Given the description of an element on the screen output the (x, y) to click on. 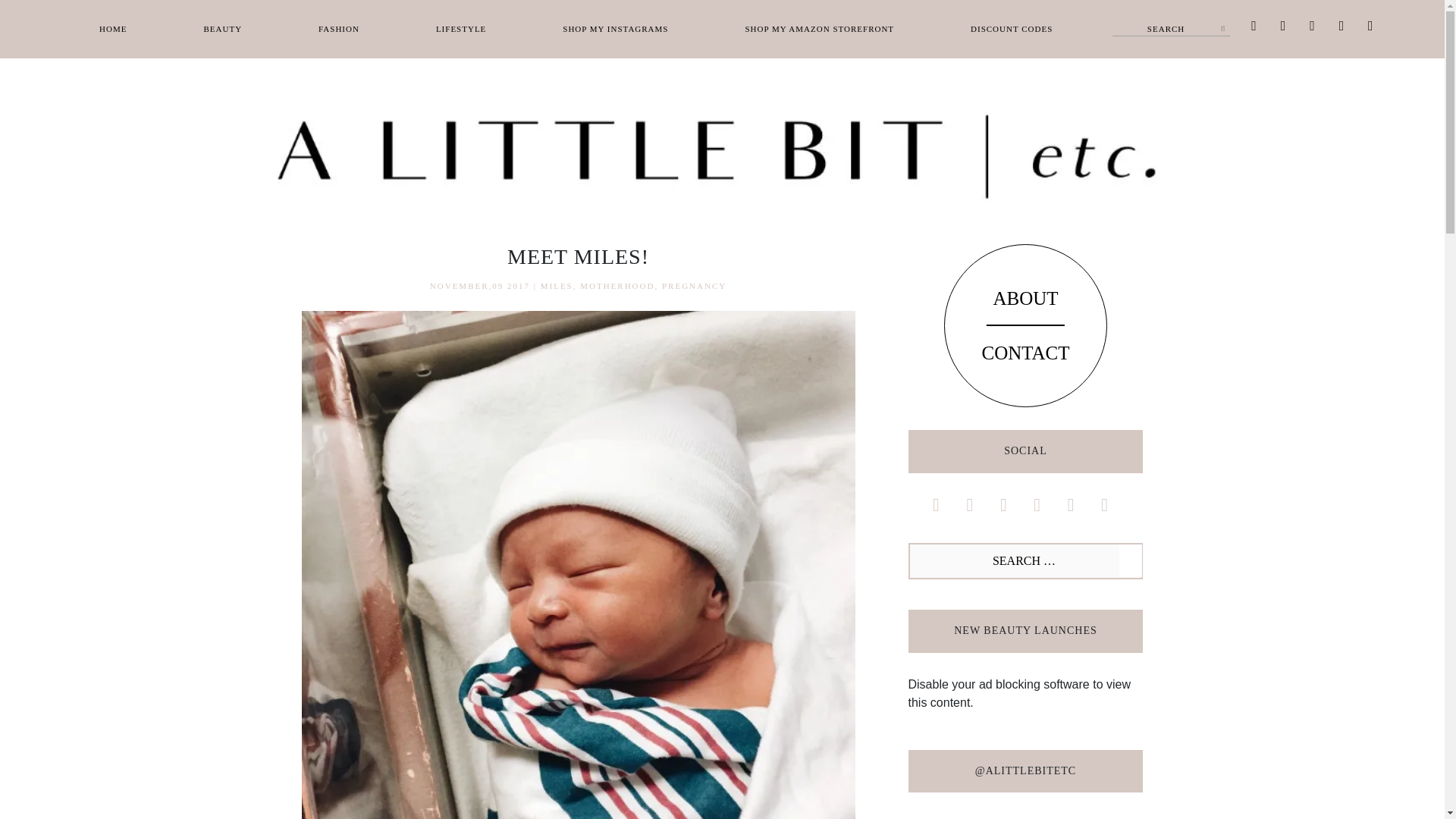
PREGNANCY (694, 285)
Facebook (935, 503)
SHOP MY AMAZON STOREFRONT (818, 29)
Twitter (1282, 24)
Instagram (1311, 24)
Twitter (970, 503)
SHOP MY INSTAGRAMS (615, 29)
Search for: (1171, 29)
MOTHERHOOD (616, 285)
Default Label (1369, 24)
MILES (556, 285)
DISCOUNT CODES (1011, 29)
facebook (1253, 24)
Default Label (1340, 24)
Facebook (1253, 24)
